Given the description of an element on the screen output the (x, y) to click on. 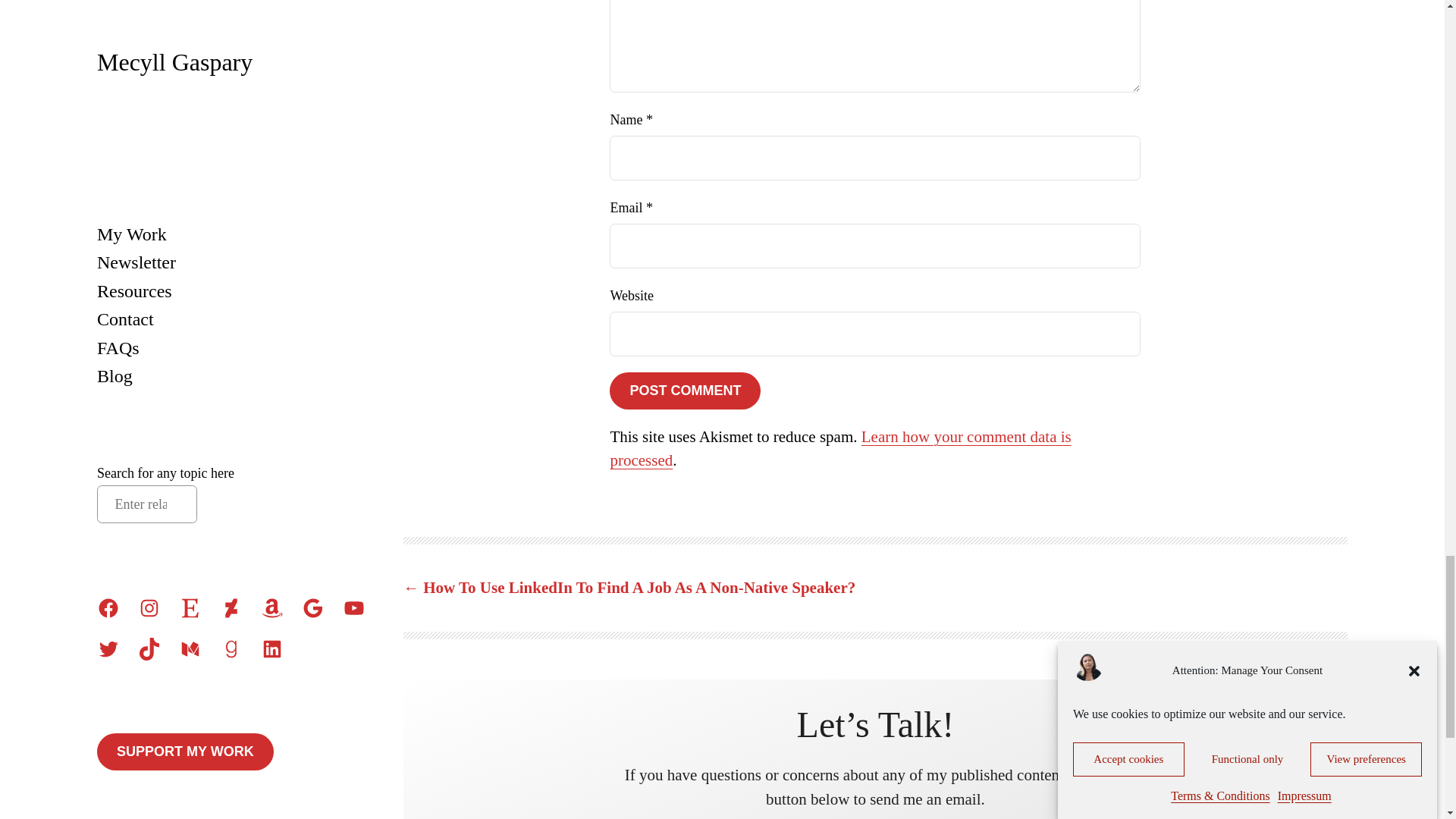
Post Comment (685, 390)
